Given the description of an element on the screen output the (x, y) to click on. 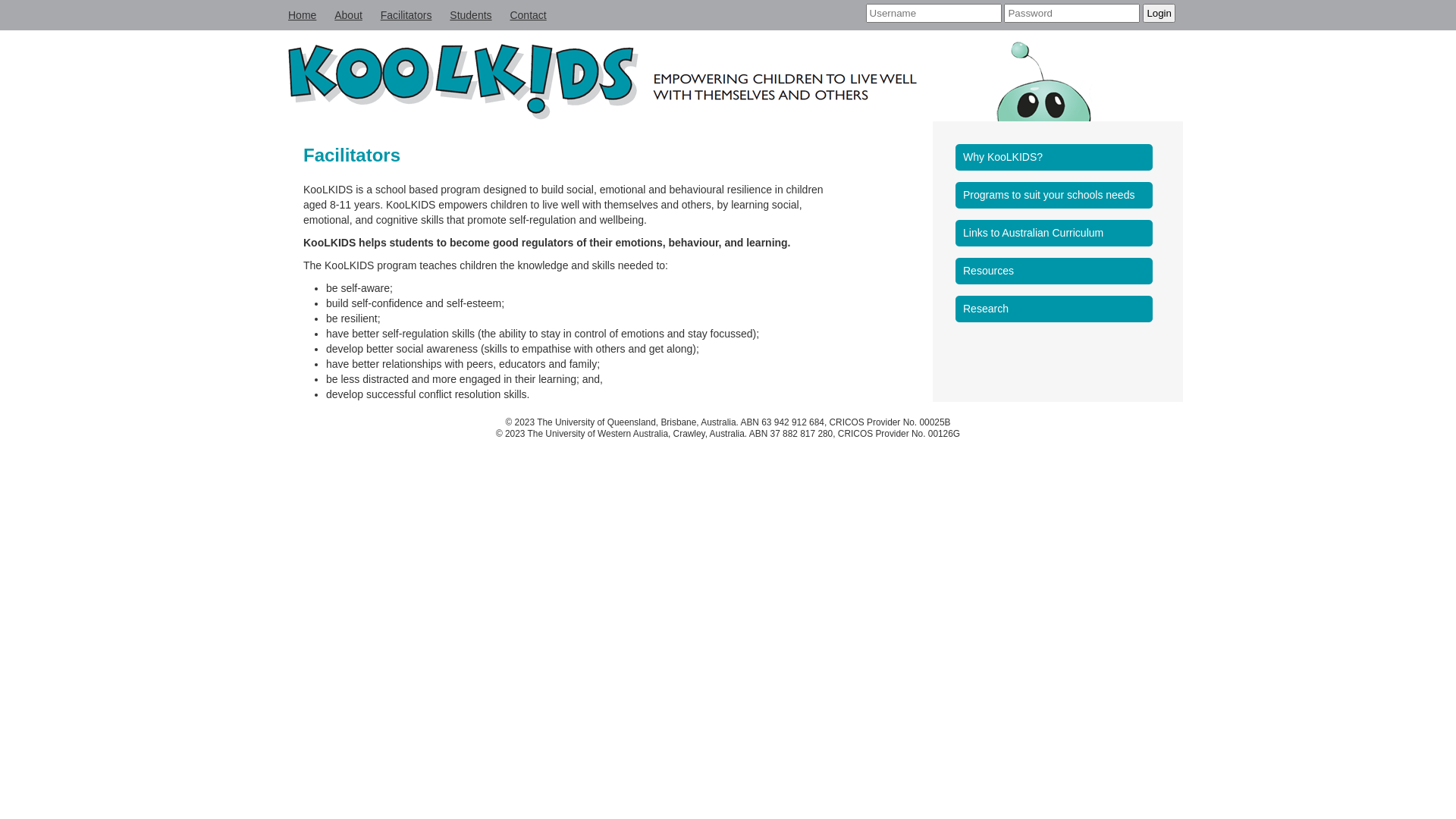
Home Element type: text (301, 15)
Why KooLKIDS? Element type: text (1057, 157)
Links to Australian Curriculum Element type: text (1057, 232)
Contact Element type: text (527, 15)
Programs to suit your schools needs Element type: text (1057, 195)
Research Element type: text (1057, 308)
Login Element type: text (1158, 12)
Students Element type: text (470, 15)
Resources Element type: text (1057, 270)
About Element type: text (348, 15)
Facilitators Element type: text (406, 15)
